Given the description of an element on the screen output the (x, y) to click on. 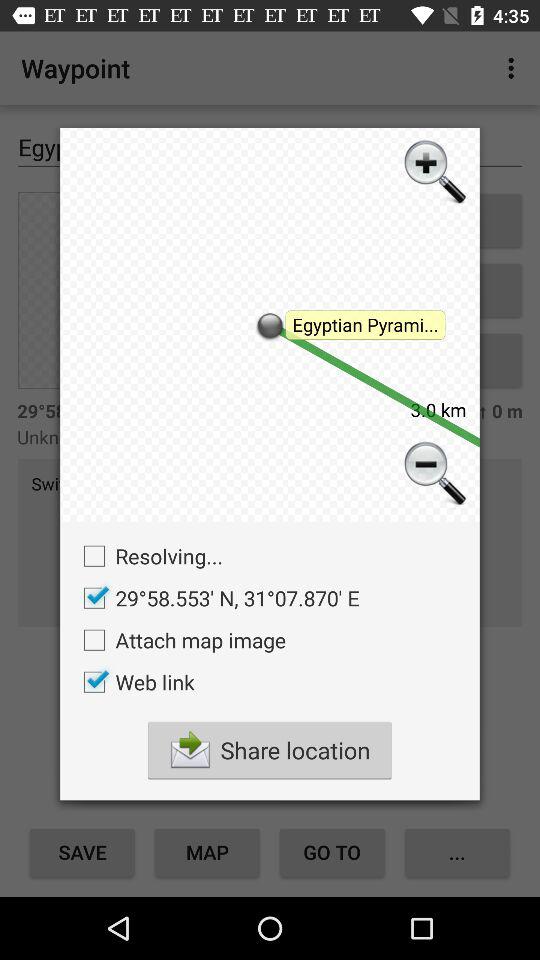
tap the icon on the left (148, 556)
